Given the description of an element on the screen output the (x, y) to click on. 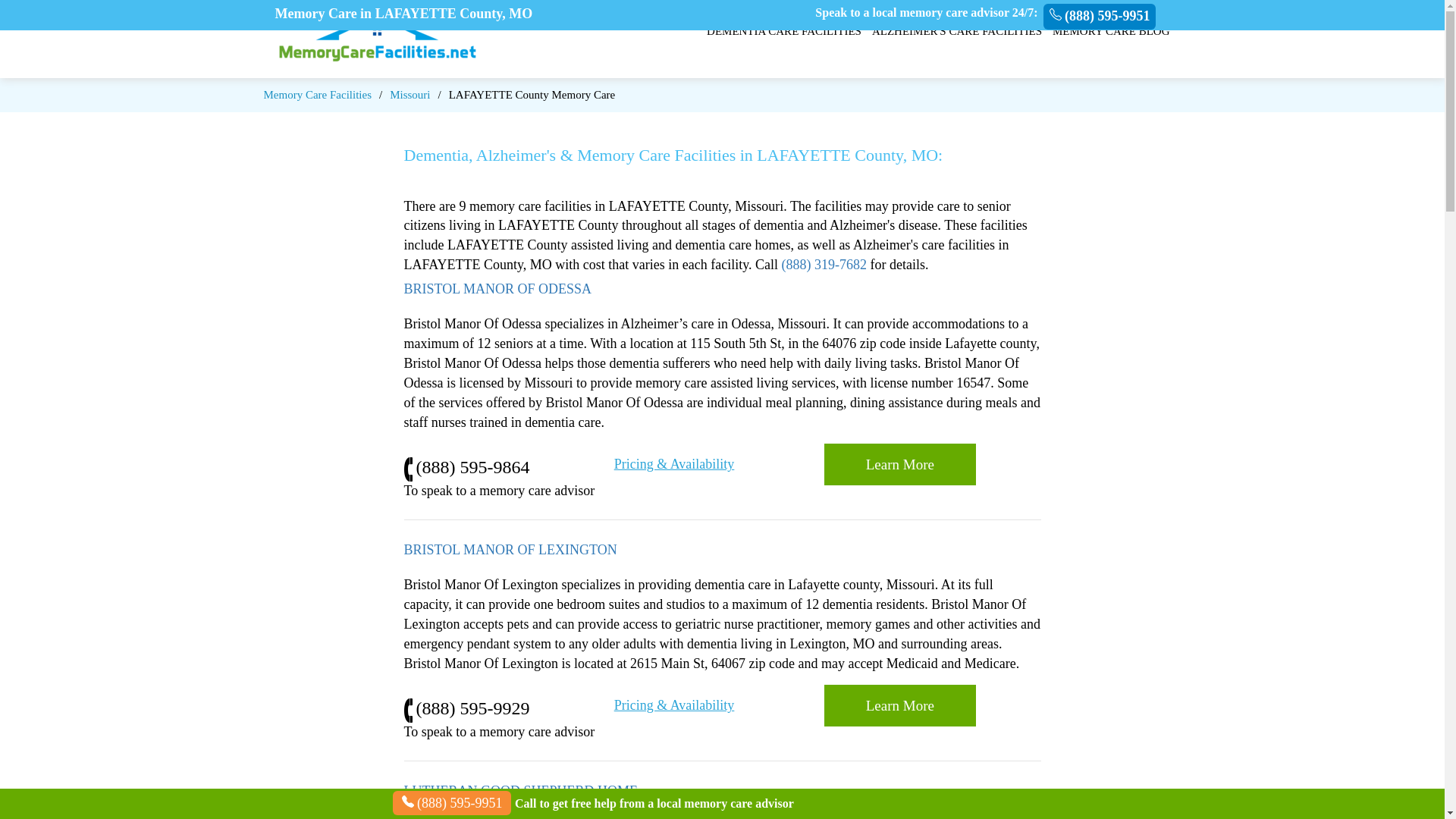
Memory Care Facilities (317, 94)
Learn More (899, 705)
Memory Care Facilities (317, 94)
Learn More (899, 705)
Memory Care in Missouri (409, 94)
Learn More (899, 464)
ALZHEIMER'S CARE FACILITIES (957, 31)
Missouri (409, 94)
Learn More (899, 464)
MEMORY CARE BLOG (1110, 31)
DEMENTIA CARE FACILITIES (783, 31)
